Given the description of an element on the screen output the (x, y) to click on. 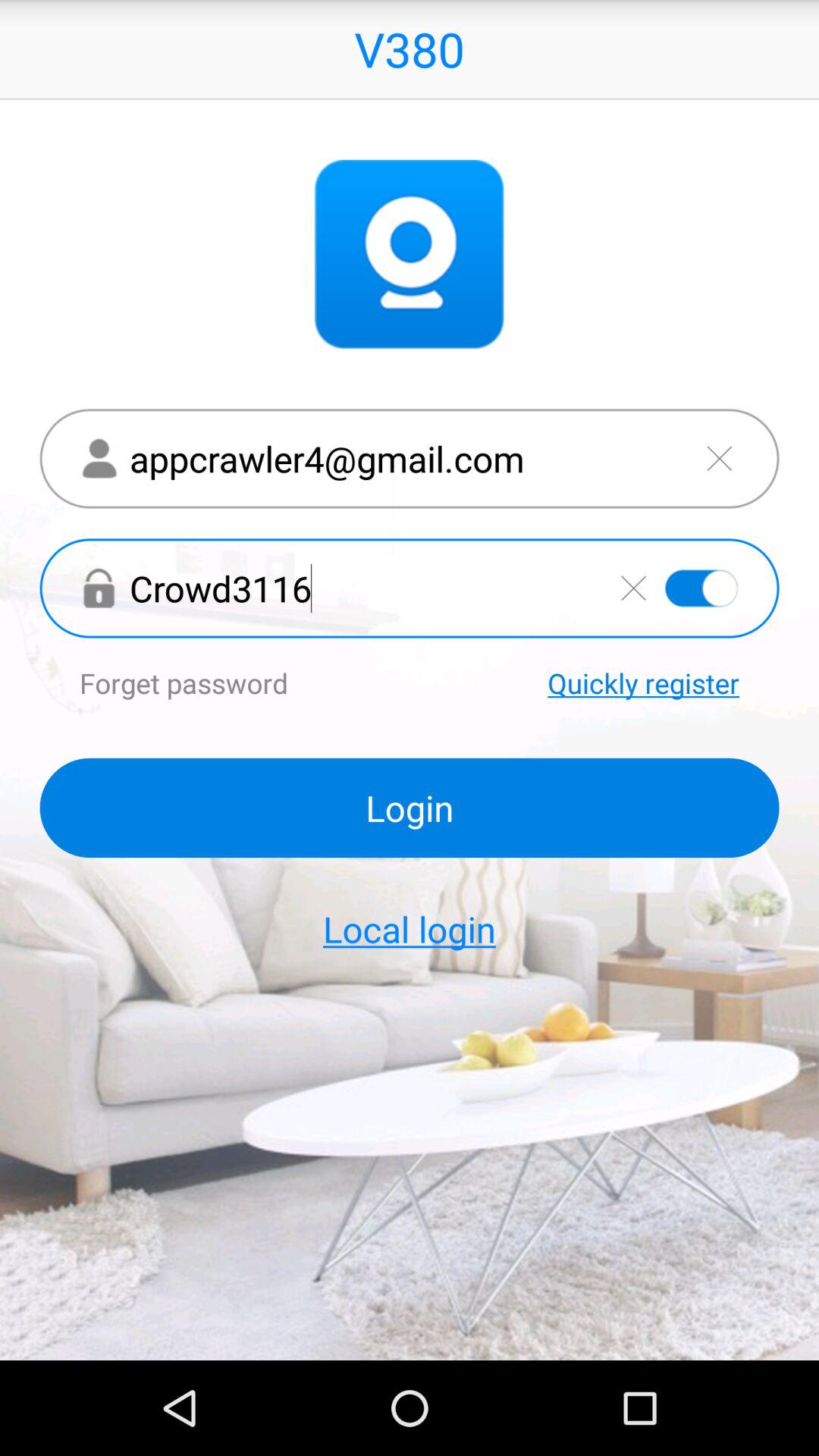
change user (719, 458)
